Given the description of an element on the screen output the (x, y) to click on. 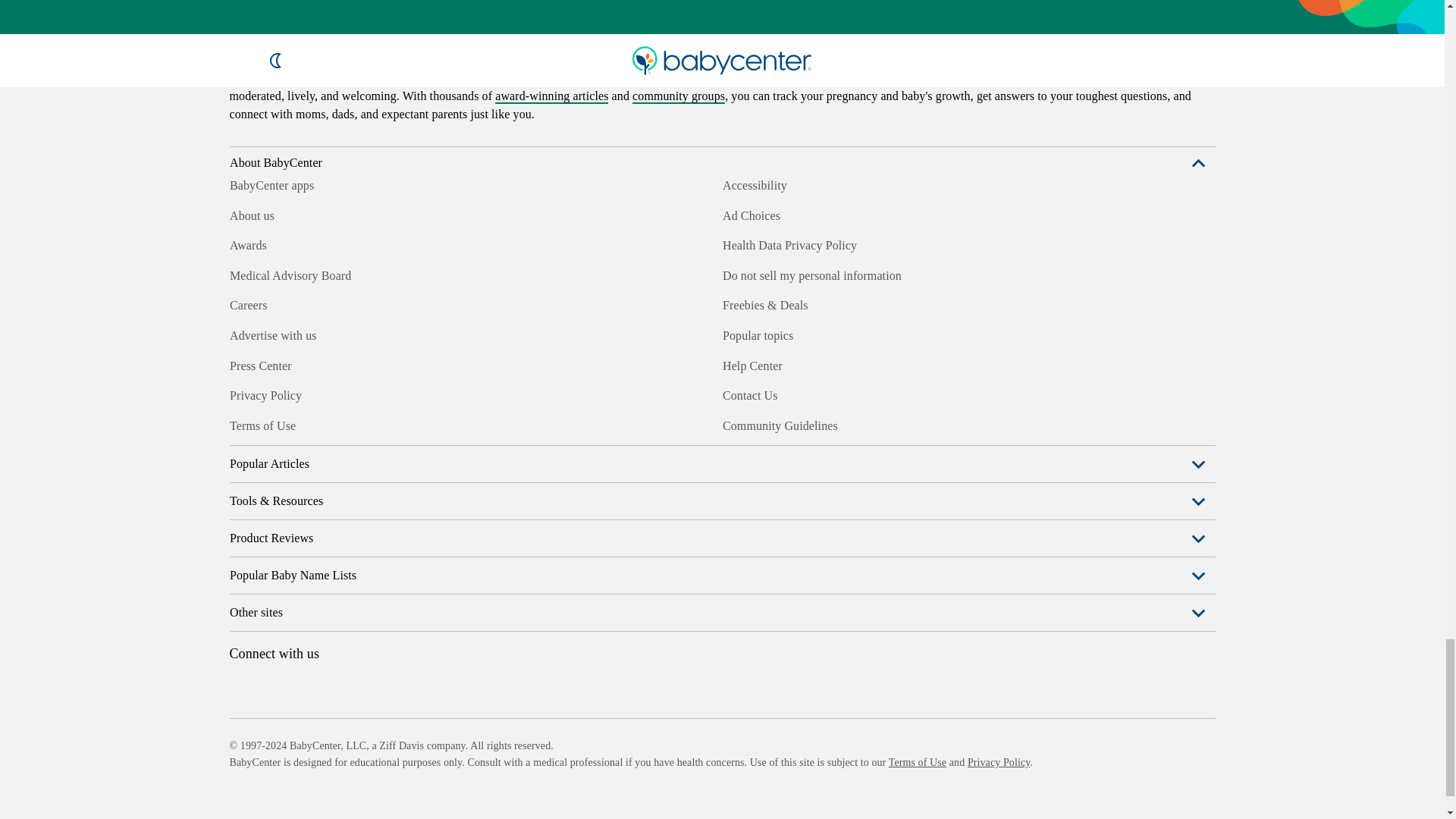
BabyCenter Facebook page (239, 463)
BabyCenter Instagram feed (274, 463)
BabyCenter YouTube channel (344, 463)
BabyCenter Twitter feed (379, 463)
BabyCenter Pinterest board (309, 463)
